Given the description of an element on the screen output the (x, y) to click on. 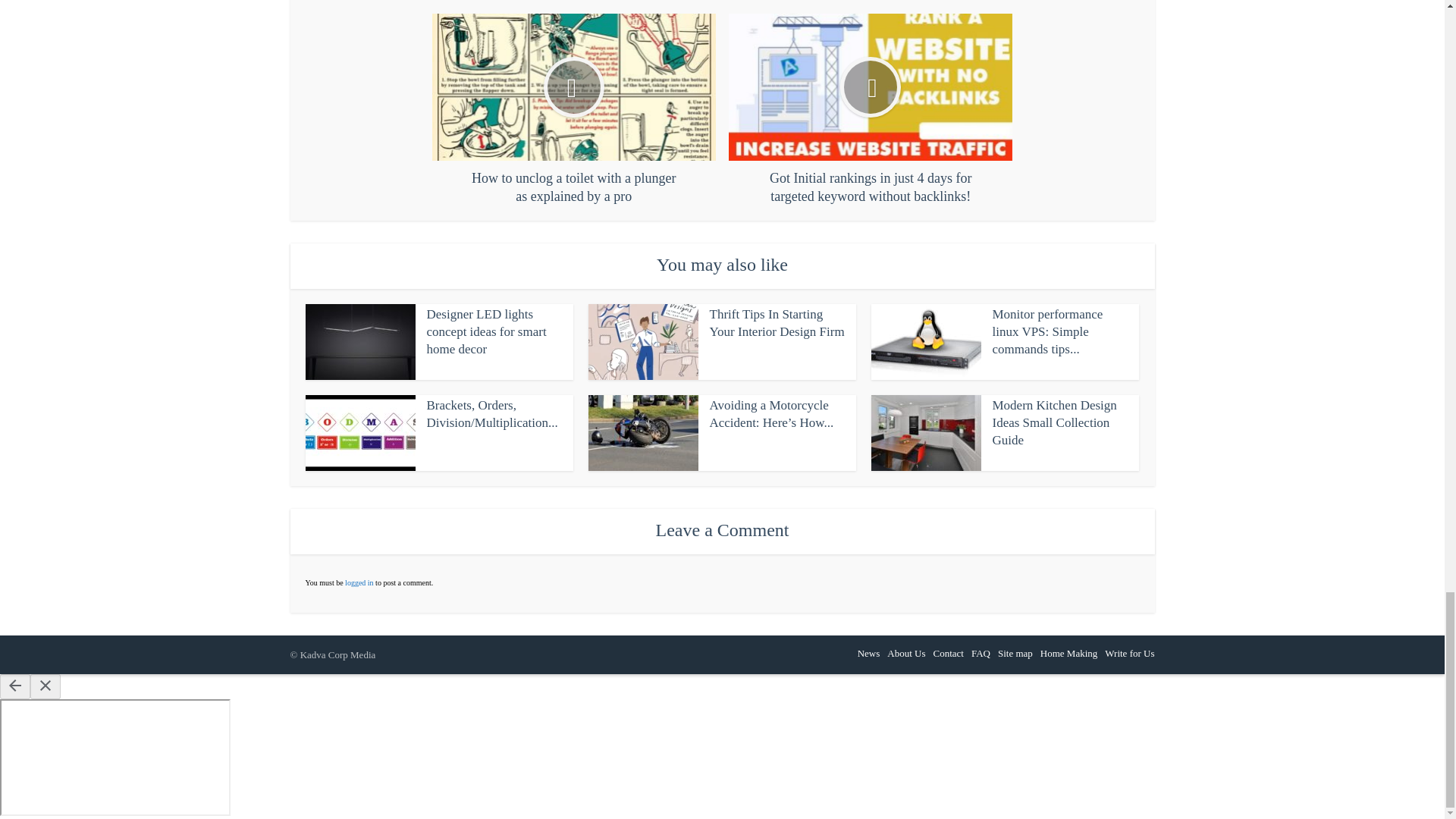
logged in (359, 582)
How to unclog a toilet with a plunger as explained by a pro (574, 108)
Thrift Tips In Starting Your Interior Design Firm (777, 323)
Monitor performance linux VPS: Simple commands tips... (1046, 331)
Thrift Tips In Starting Your Interior Design Firm (777, 323)
Designer LED lights concept ideas for smart home decor (486, 331)
Designer LED lights concept ideas for smart home decor (486, 331)
Modern Kitchen Design Ideas Small Collection Guide (1053, 422)
